Given the description of an element on the screen output the (x, y) to click on. 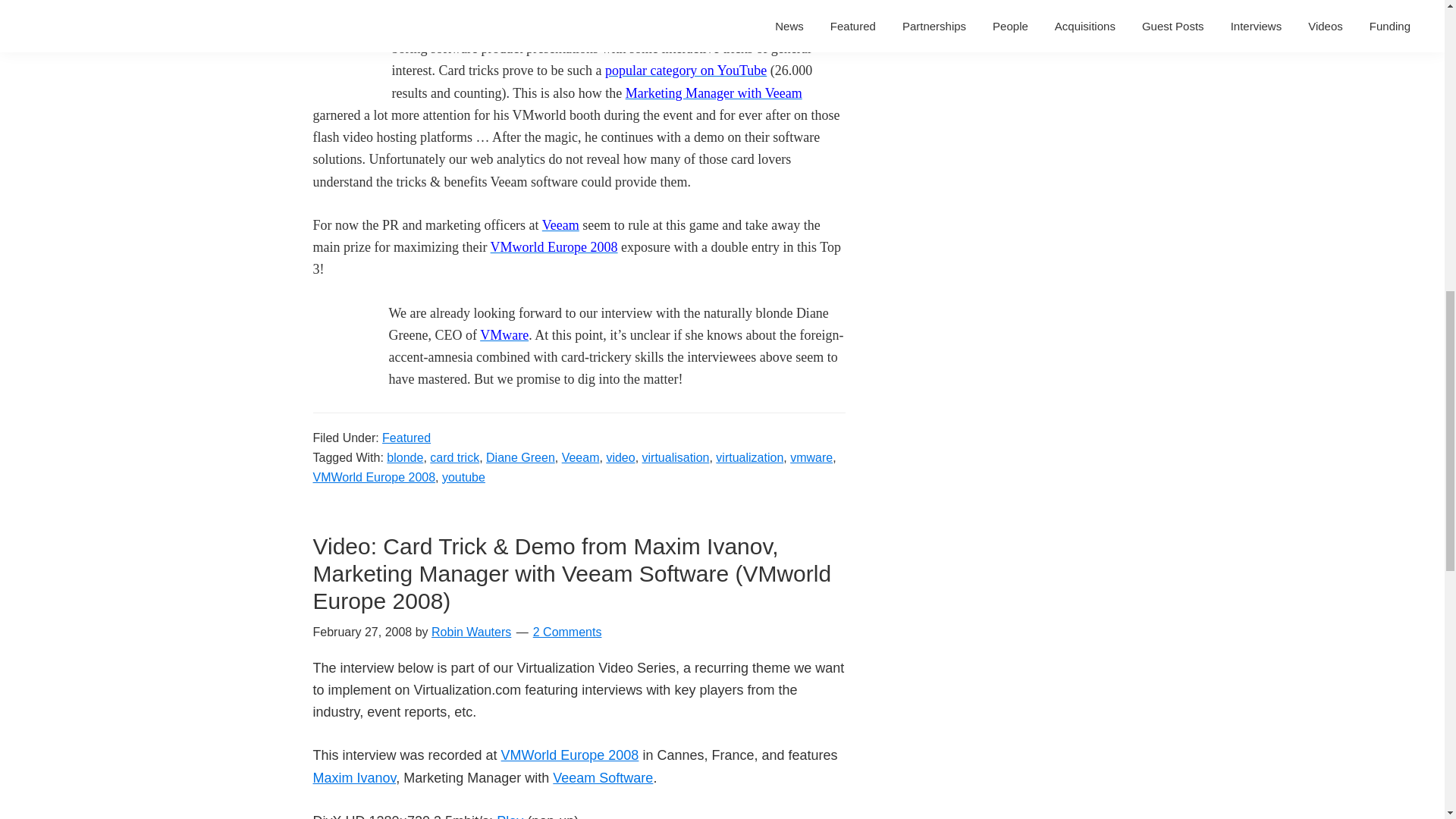
blonde (405, 456)
VMworld Europe 2008 (553, 246)
popular category on YouTube (686, 70)
VMworld Europe 2008 video coverage in Cannes (553, 246)
VMware (504, 335)
VMware company profile (504, 335)
card tricks on YouTube (686, 70)
Veeam.com homepage (560, 224)
card trick (454, 456)
virtualisation (676, 456)
Veeam (580, 456)
Maxim Ivanov Marketing Manager with Veeam (714, 92)
Marketing Manager with Veeam (714, 92)
Veeam (560, 224)
Featured (405, 436)
